Given the description of an element on the screen output the (x, y) to click on. 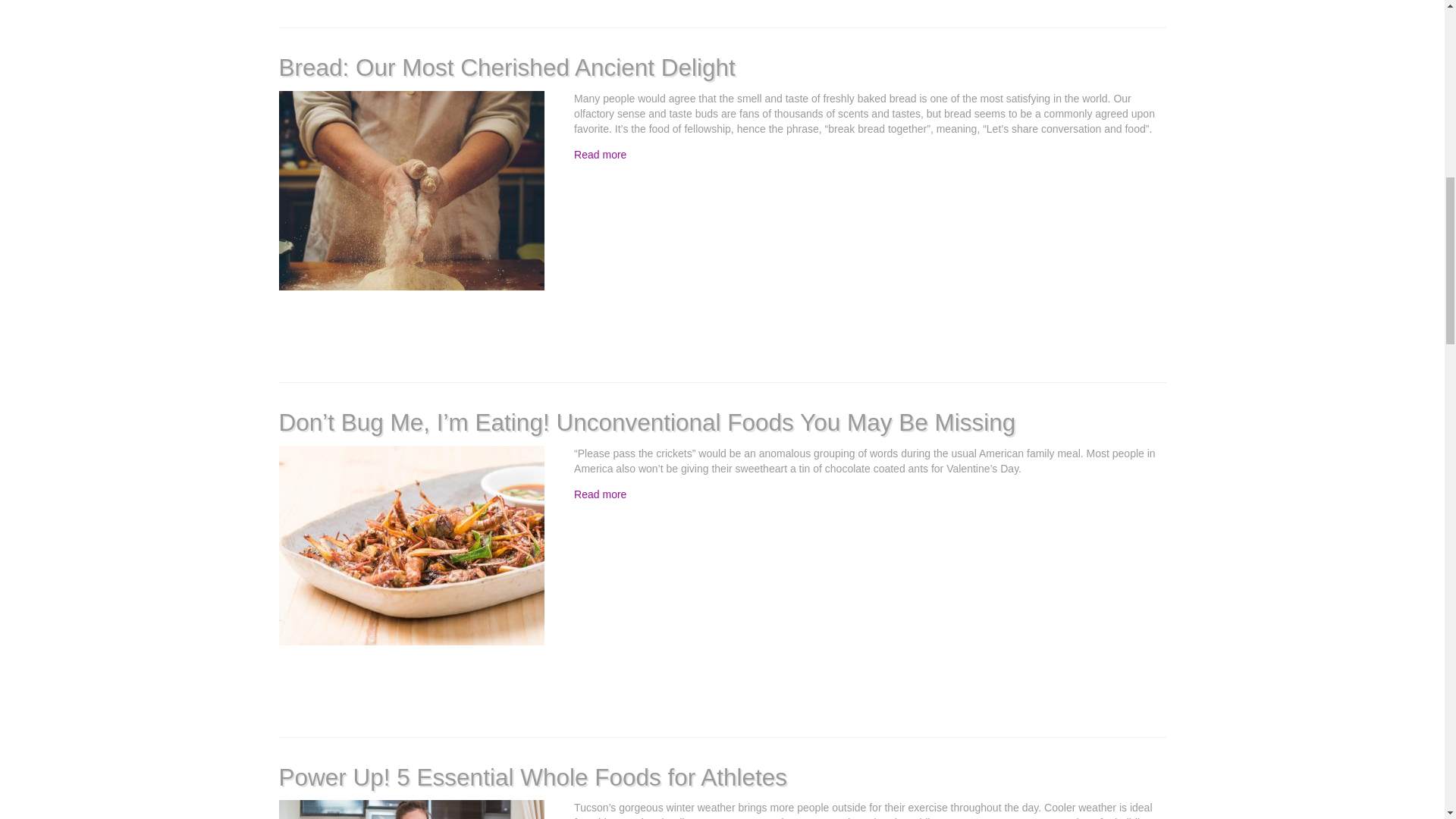
Read more (599, 154)
Read more (599, 494)
